Given the description of an element on the screen output the (x, y) to click on. 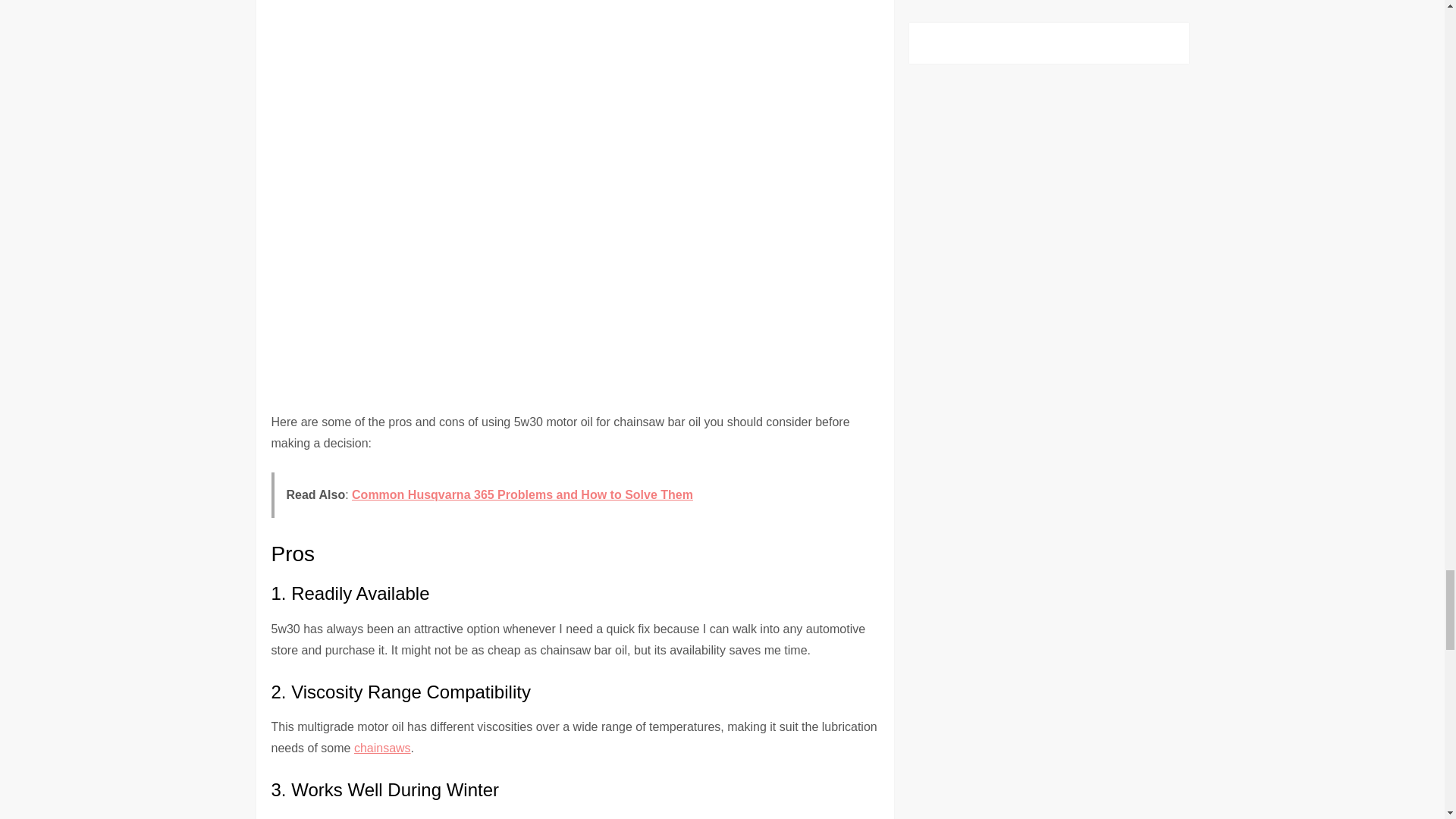
chainsaws (381, 748)
Common Husqvarna 365 Problems and How to Solve Them (522, 494)
